Given the description of an element on the screen output the (x, y) to click on. 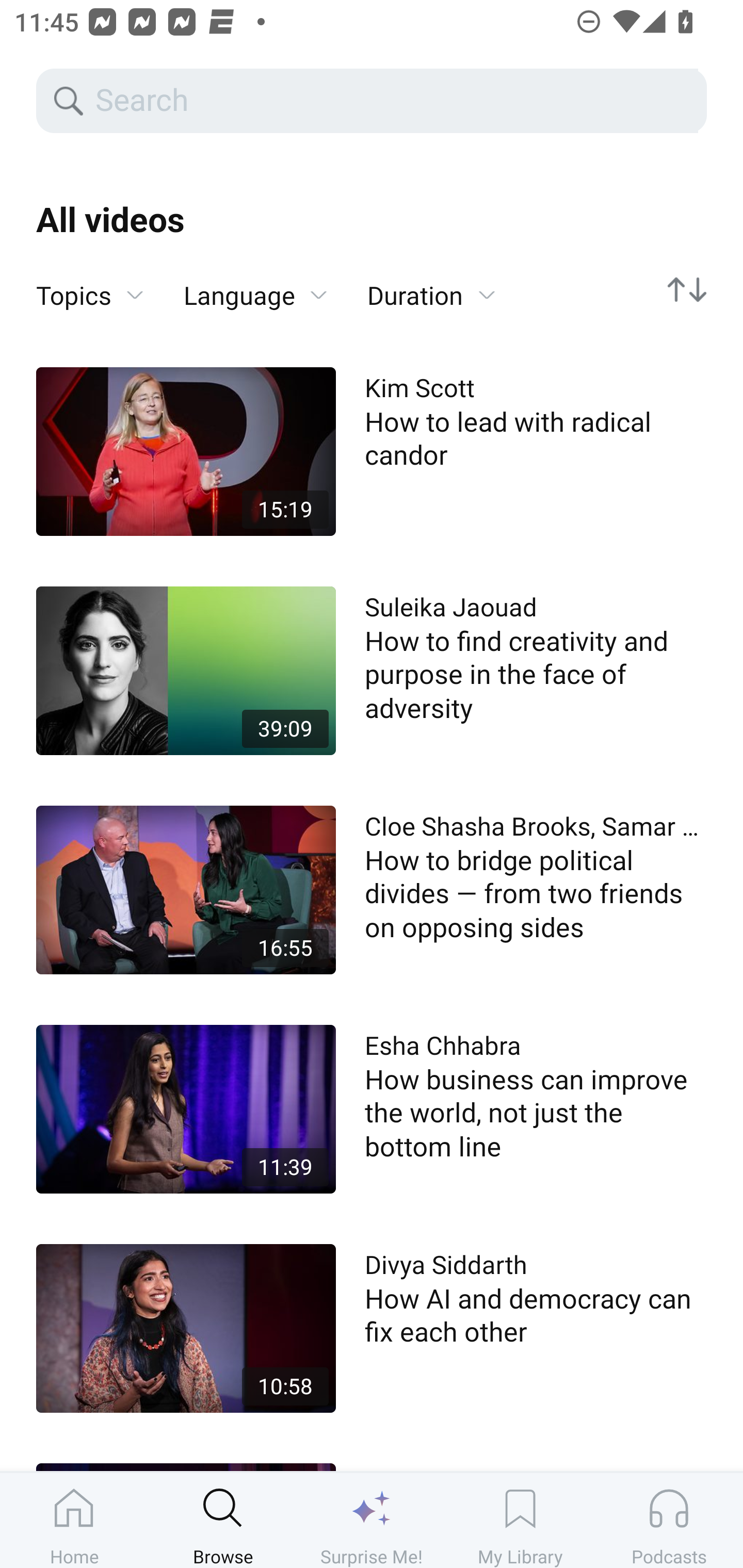
Search (395, 100)
Topics (90, 295)
Language (255, 295)
Duration (431, 295)
15:19 Kim Scott How to lead with radical candor (371, 451)
Home (74, 1520)
Browse (222, 1520)
Surprise Me! (371, 1520)
My Library (519, 1520)
Podcasts (668, 1520)
